Given the description of an element on the screen output the (x, y) to click on. 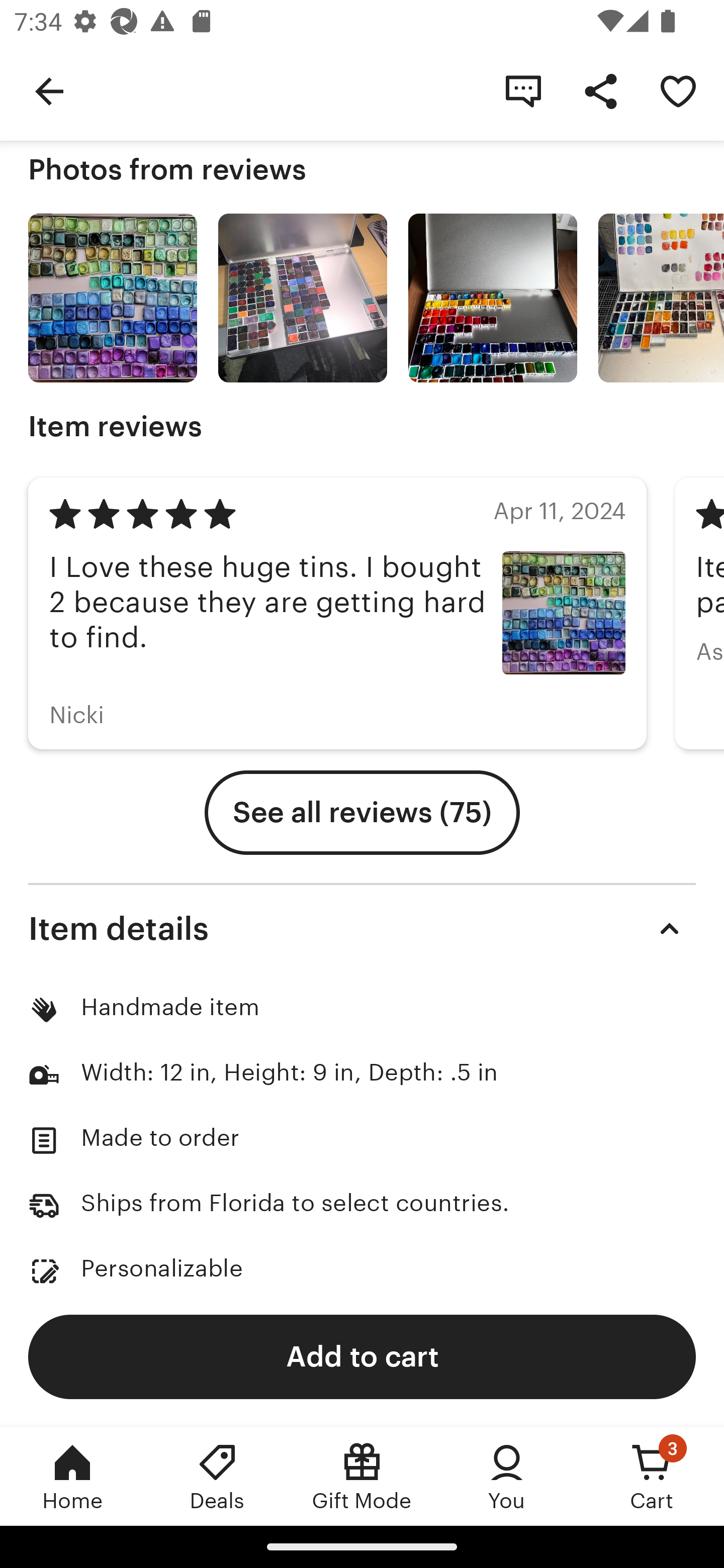
Navigate up (49, 90)
Contact shop (523, 90)
Share (600, 90)
Photo from review (112, 297)
Photo from review (302, 297)
Photo from review (492, 297)
Photo from review (661, 297)
Rating: 5.0 out of 5,  reviews Apr 11, 2024 Nicki (337, 612)
See all reviews (75) (361, 811)
Item details (362, 927)
Add to cart (361, 1355)
Deals (216, 1475)
Gift Mode (361, 1475)
You (506, 1475)
Cart, 3 new notifications Cart (651, 1475)
